Given the description of an element on the screen output the (x, y) to click on. 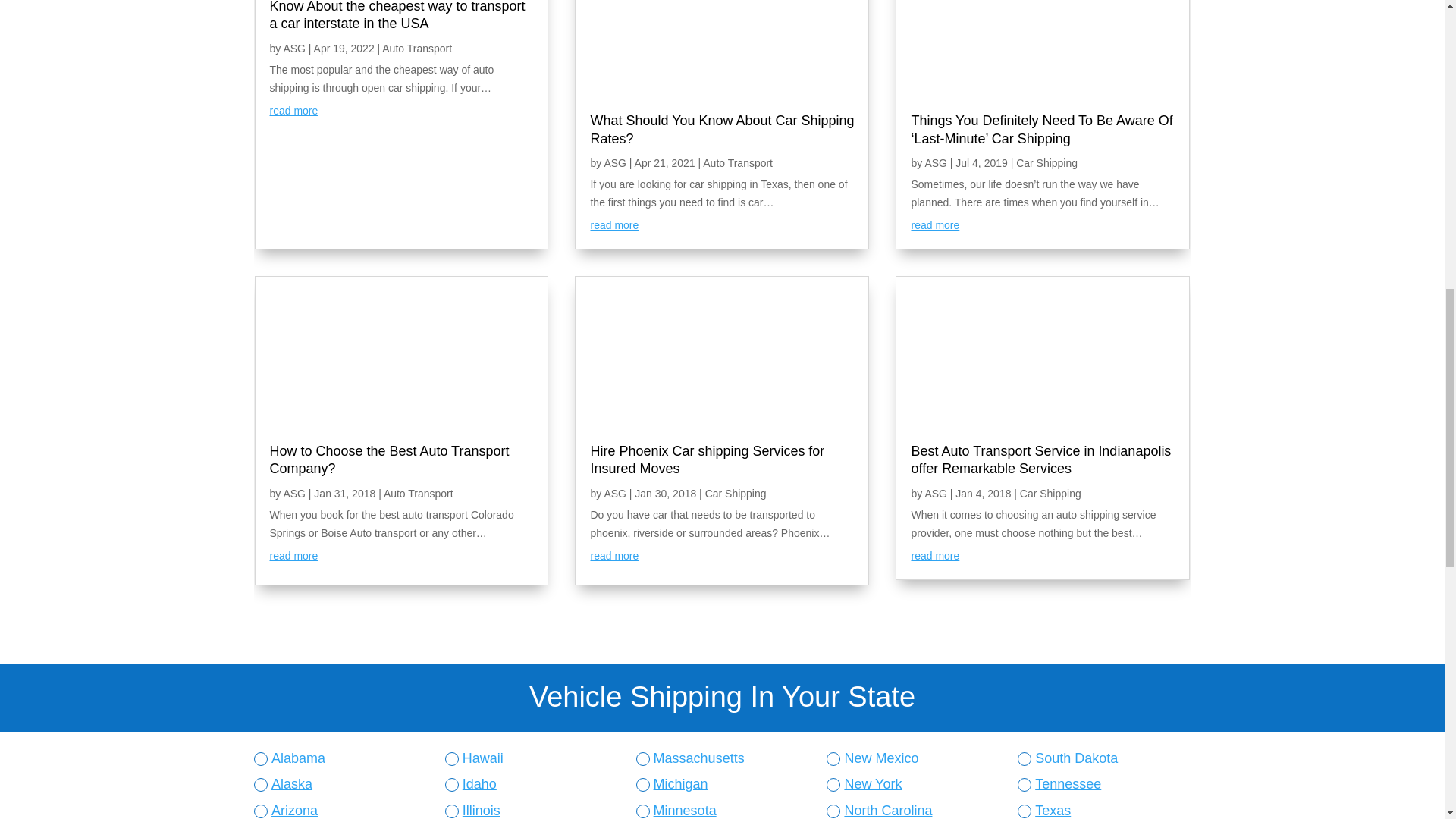
View all posts by ASG (936, 493)
View all posts by ASG (936, 162)
View all posts by ASG (616, 493)
View all posts by ASG (294, 493)
View all posts by ASG (294, 48)
View all posts by ASG (616, 162)
